Given the description of an element on the screen output the (x, y) to click on. 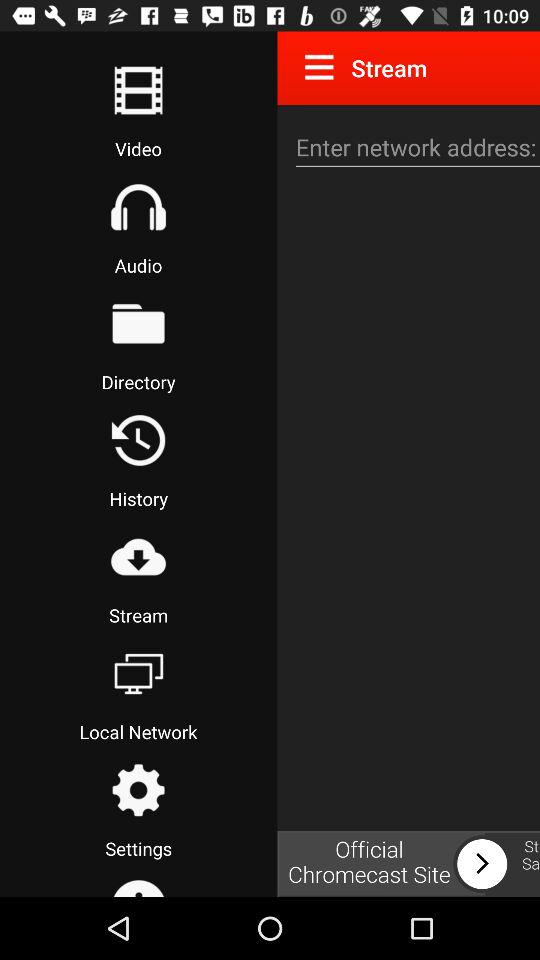
see audio settings (138, 207)
